Given the description of an element on the screen output the (x, y) to click on. 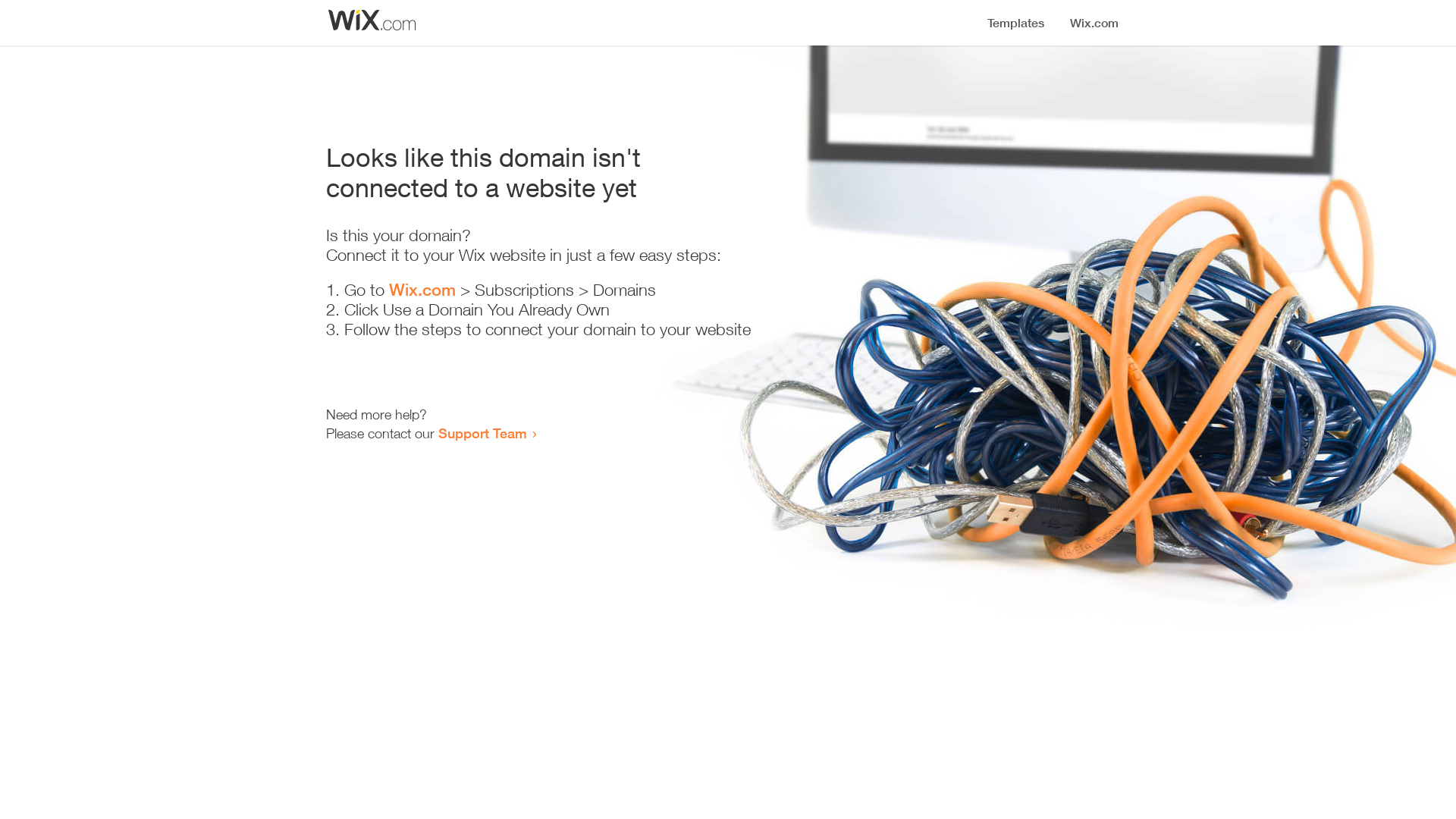
Support Team Element type: text (482, 432)
Wix.com Element type: text (422, 289)
